Given the description of an element on the screen output the (x, y) to click on. 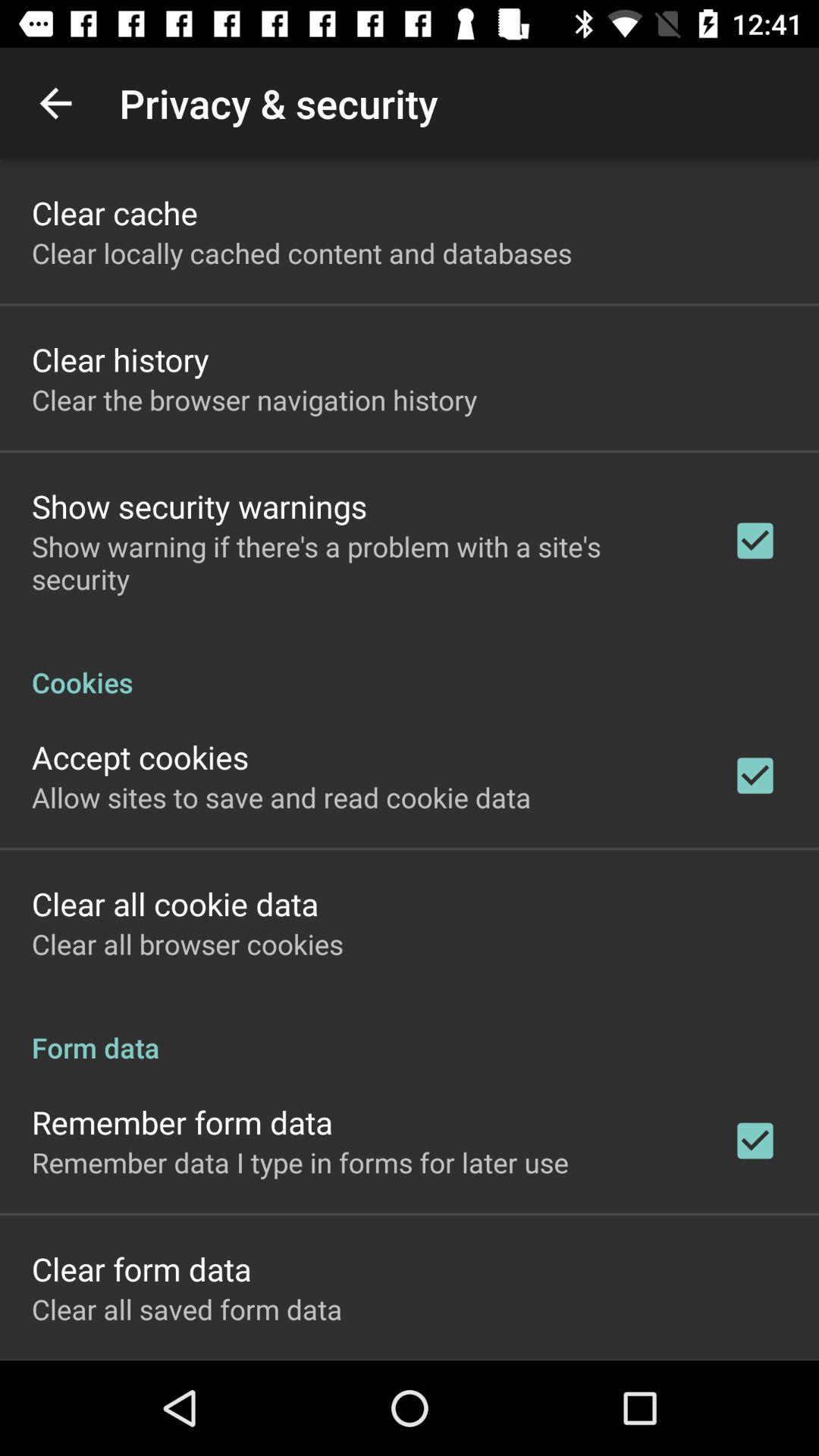
swipe until the show warning if icon (361, 562)
